Given the description of an element on the screen output the (x, y) to click on. 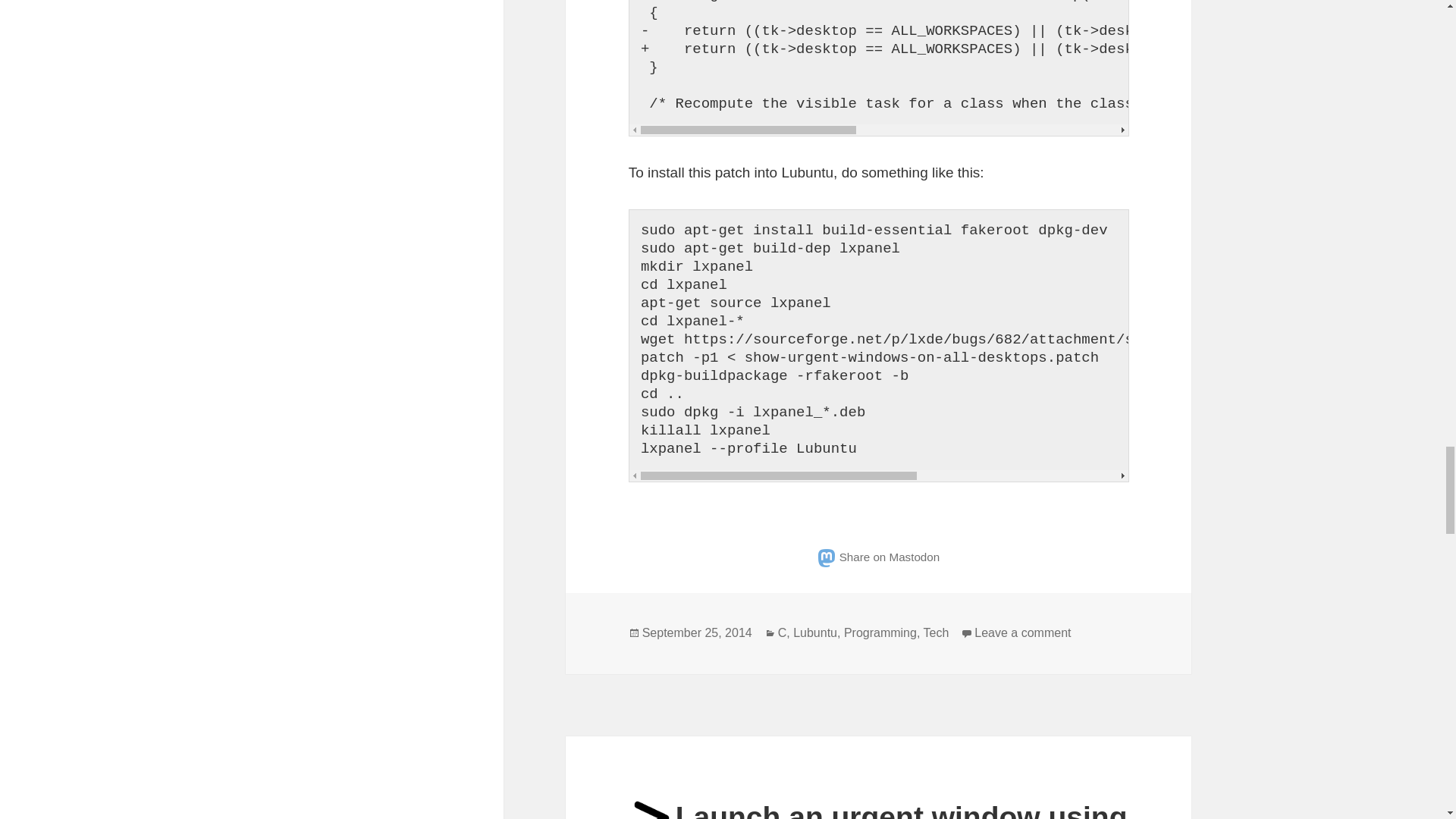
Toot on Mastodon (877, 556)
